Given the description of an element on the screen output the (x, y) to click on. 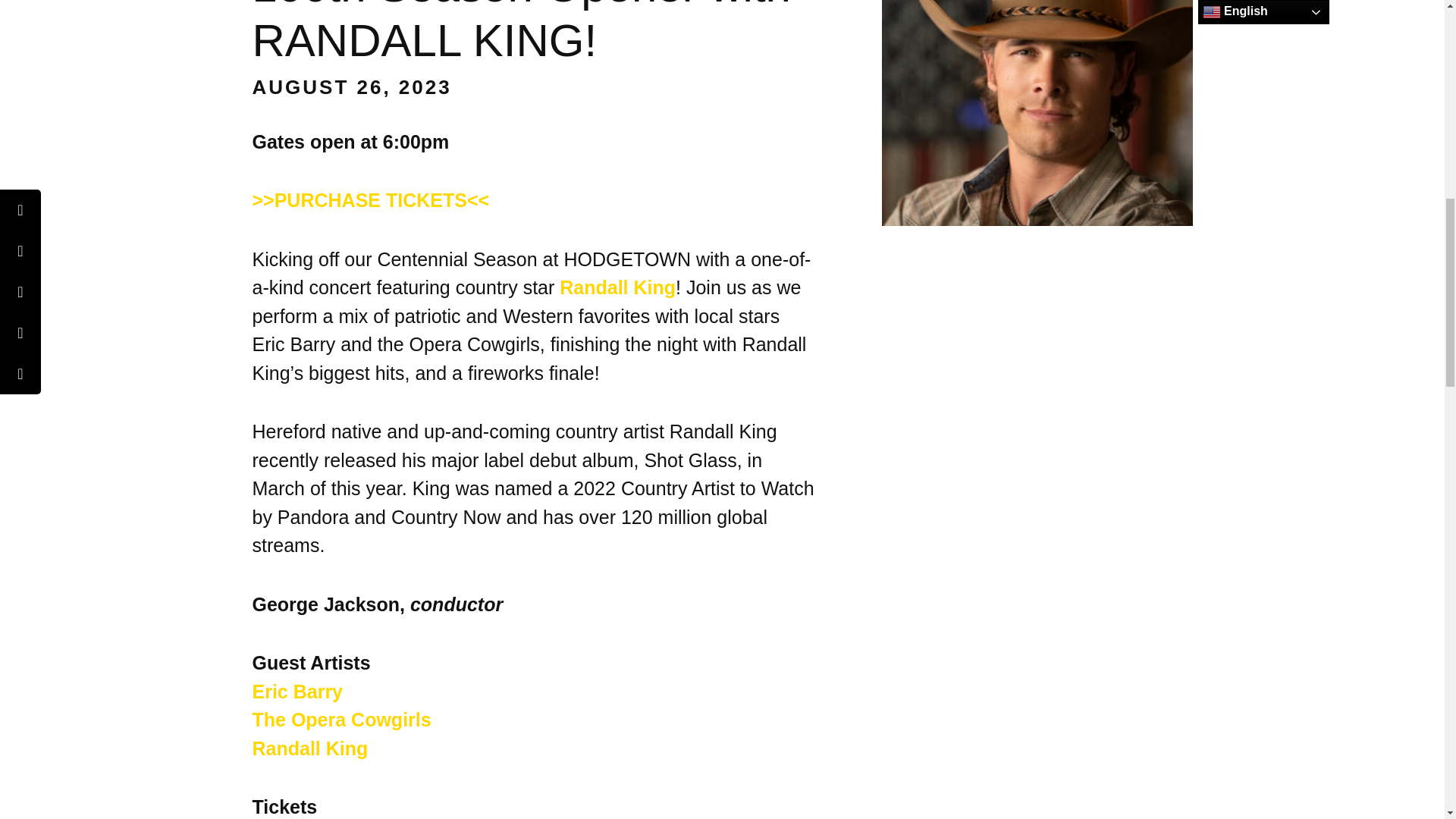
Randall King (617, 287)
